Given the description of an element on the screen output the (x, y) to click on. 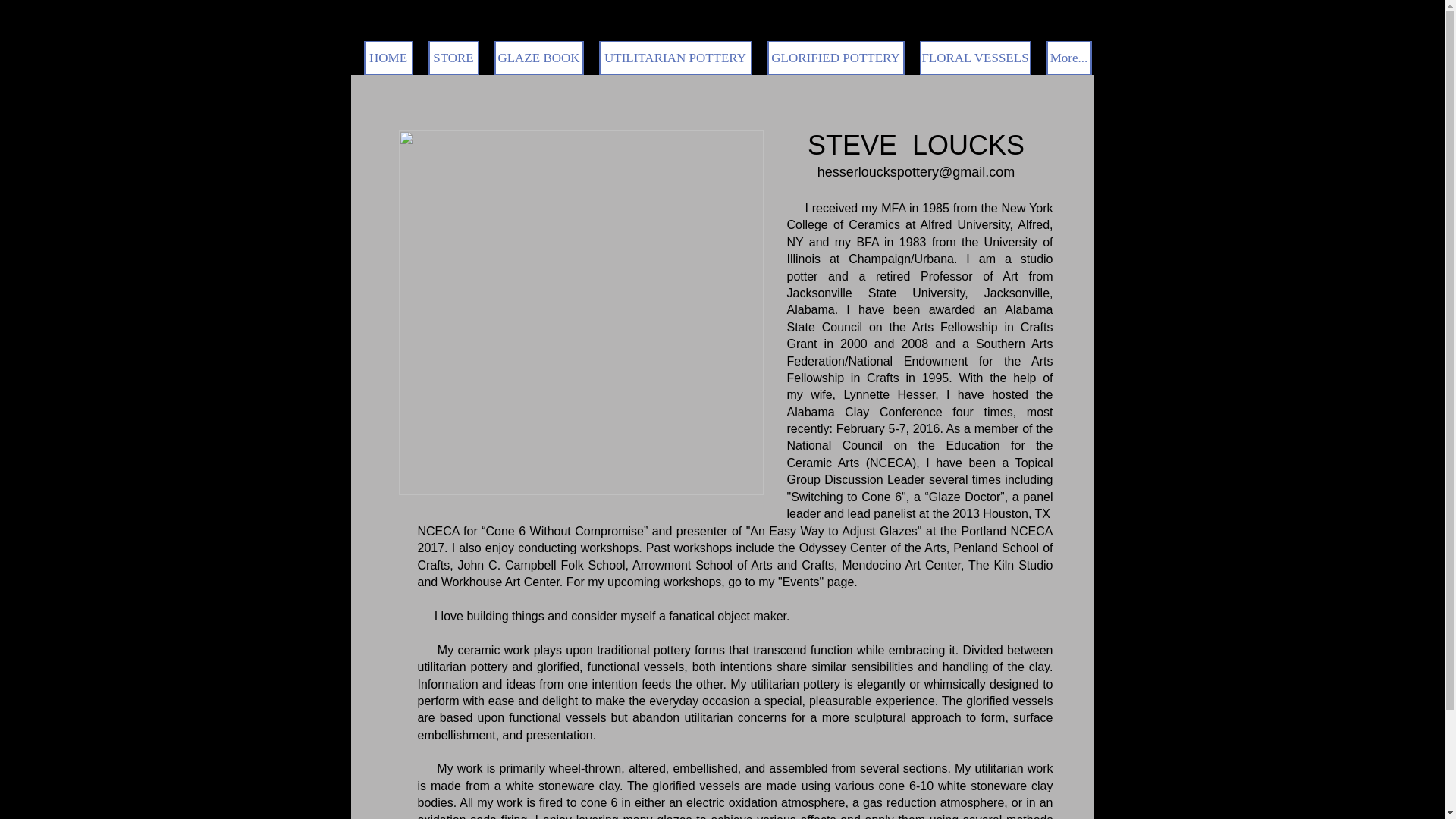
UTILITARIAN POTTERY (675, 57)
FLORAL VESSELS (974, 57)
HOME (388, 57)
GLAZE BOOK (539, 57)
GLORIFIED POTTERY (835, 57)
STORE (453, 57)
